Given the description of an element on the screen output the (x, y) to click on. 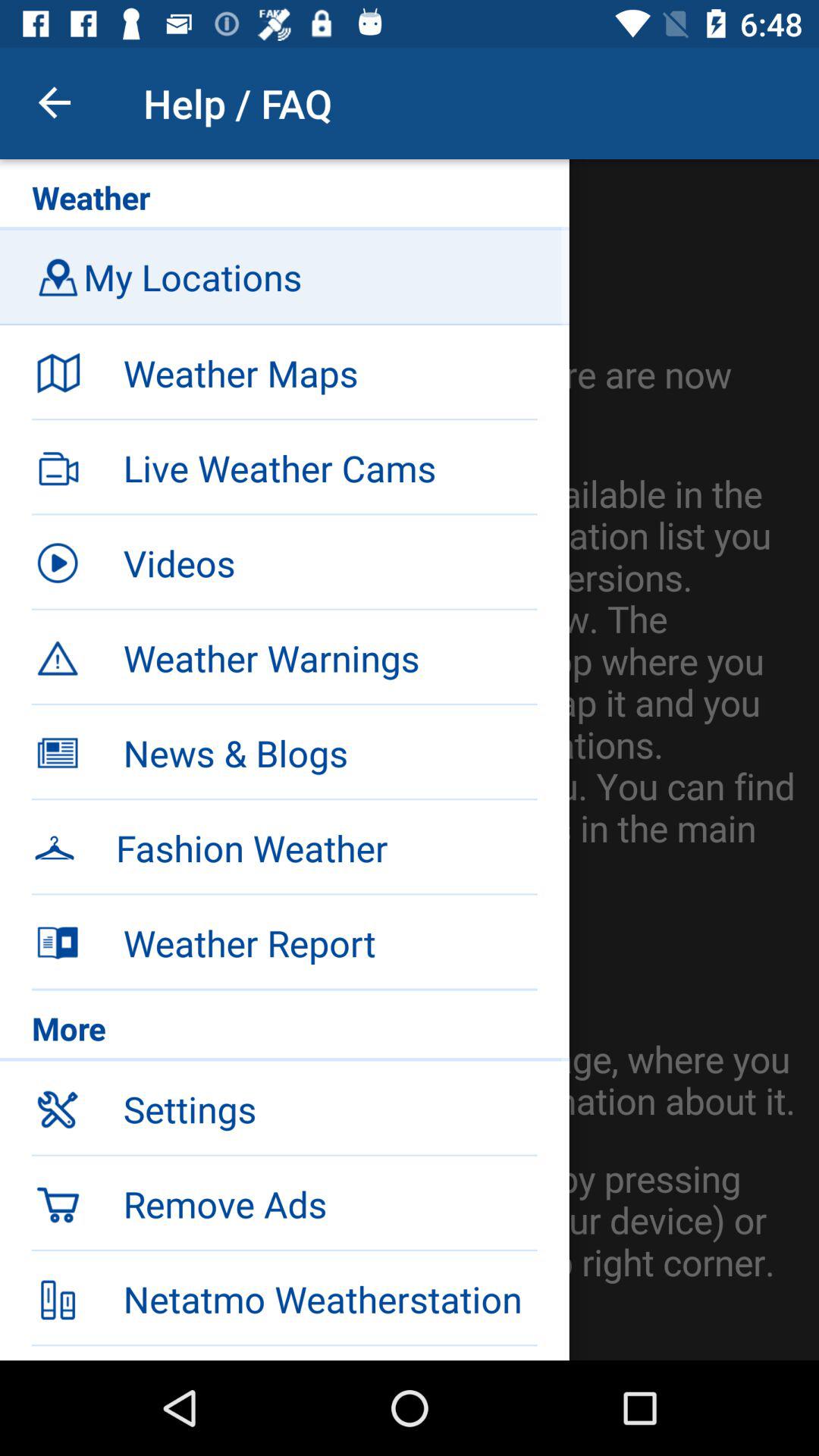
choose the icon below the remove ads item (330, 1298)
